Given the description of an element on the screen output the (x, y) to click on. 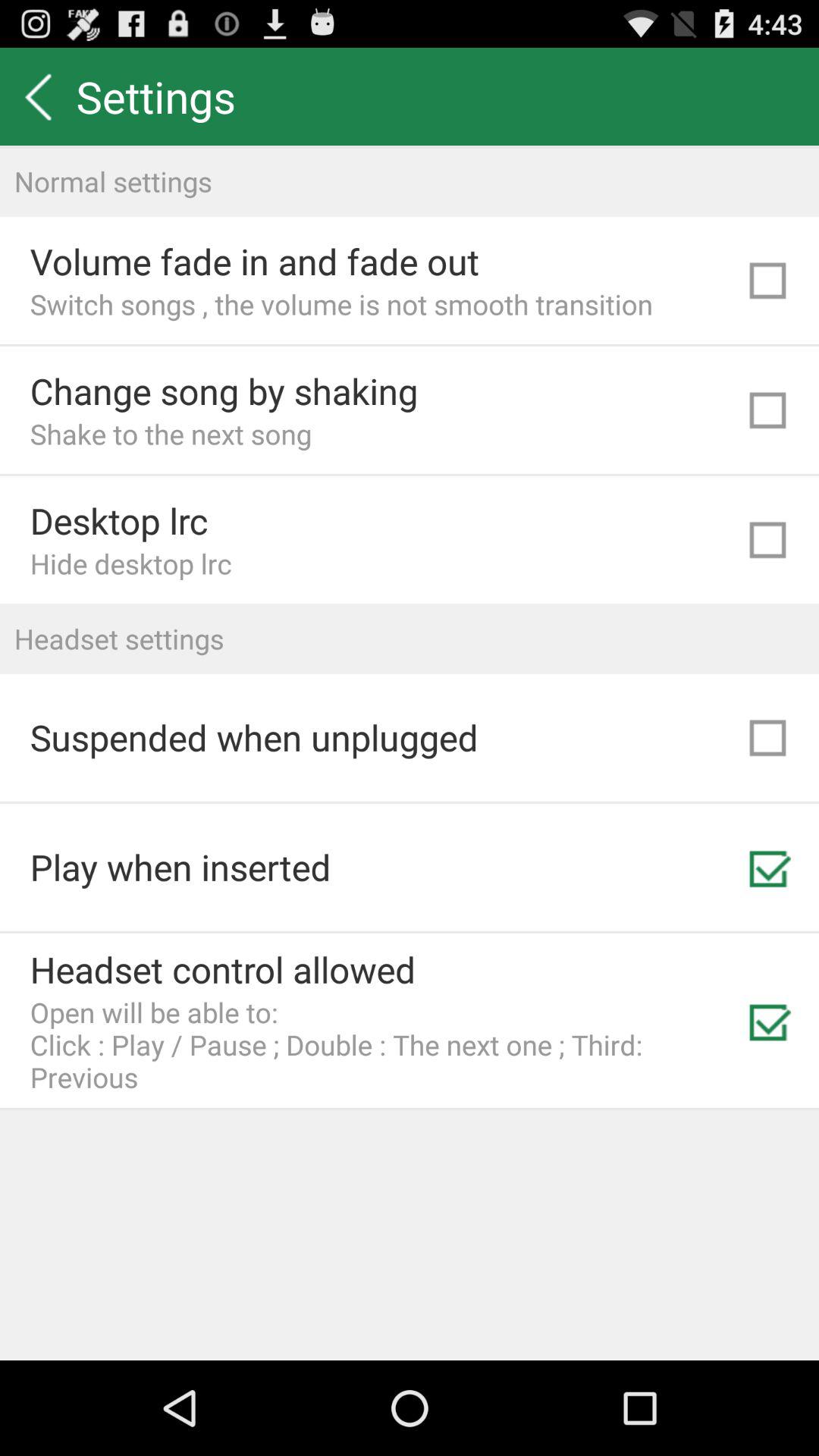
turn on icon above headset control allowed item (180, 866)
